Given the description of an element on the screen output the (x, y) to click on. 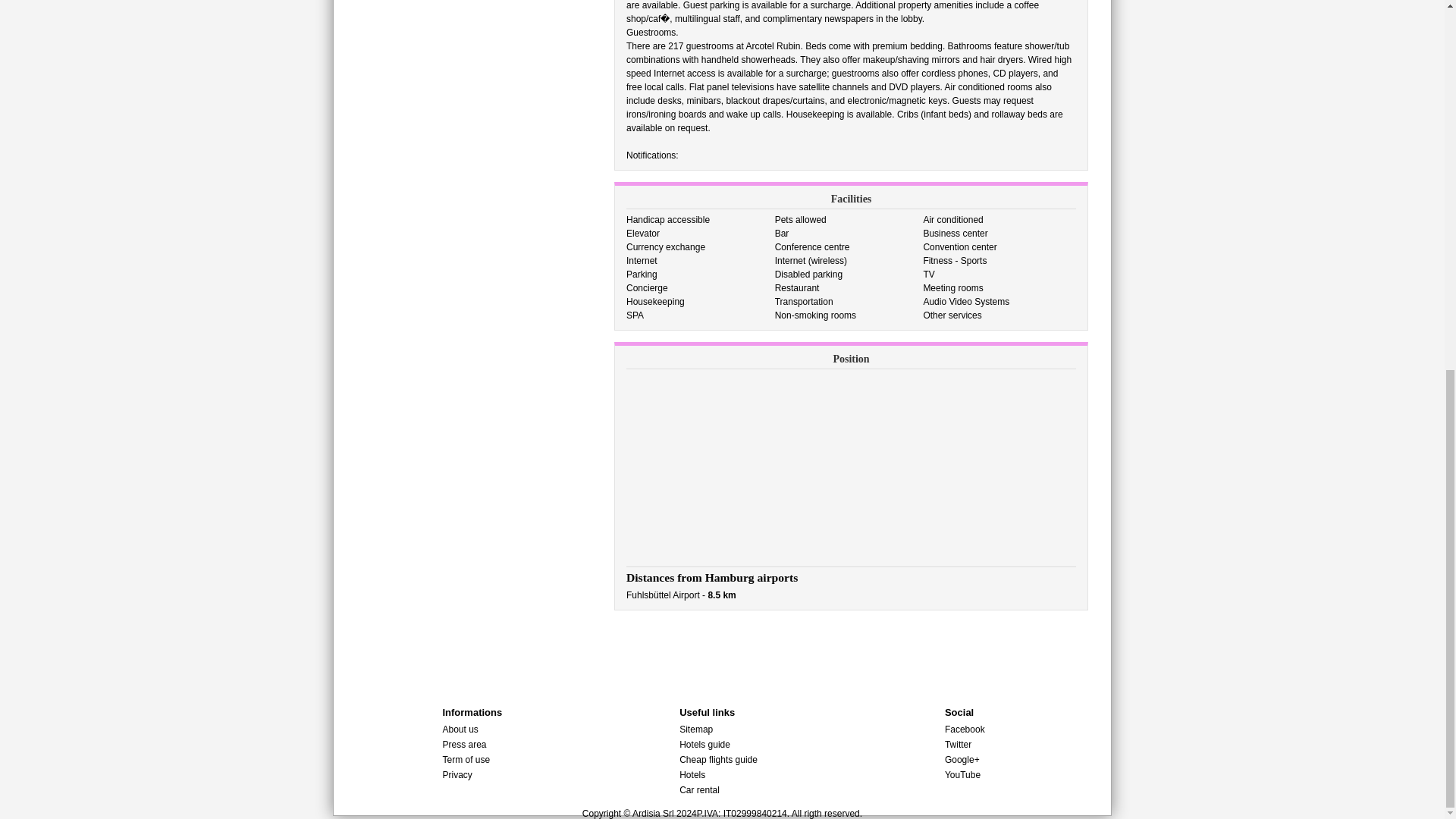
Sitemap (696, 728)
Hotels (691, 774)
Term of use (465, 759)
YouTube (961, 774)
Privacy (456, 774)
Cheap flights guide (718, 759)
Term of use (465, 759)
Facebook (964, 728)
Press area (464, 744)
Hotels guide (704, 744)
Twitter (957, 744)
Site map (696, 728)
Privacy (456, 774)
Hotels guide (704, 744)
Press area (464, 744)
